Given the description of an element on the screen output the (x, y) to click on. 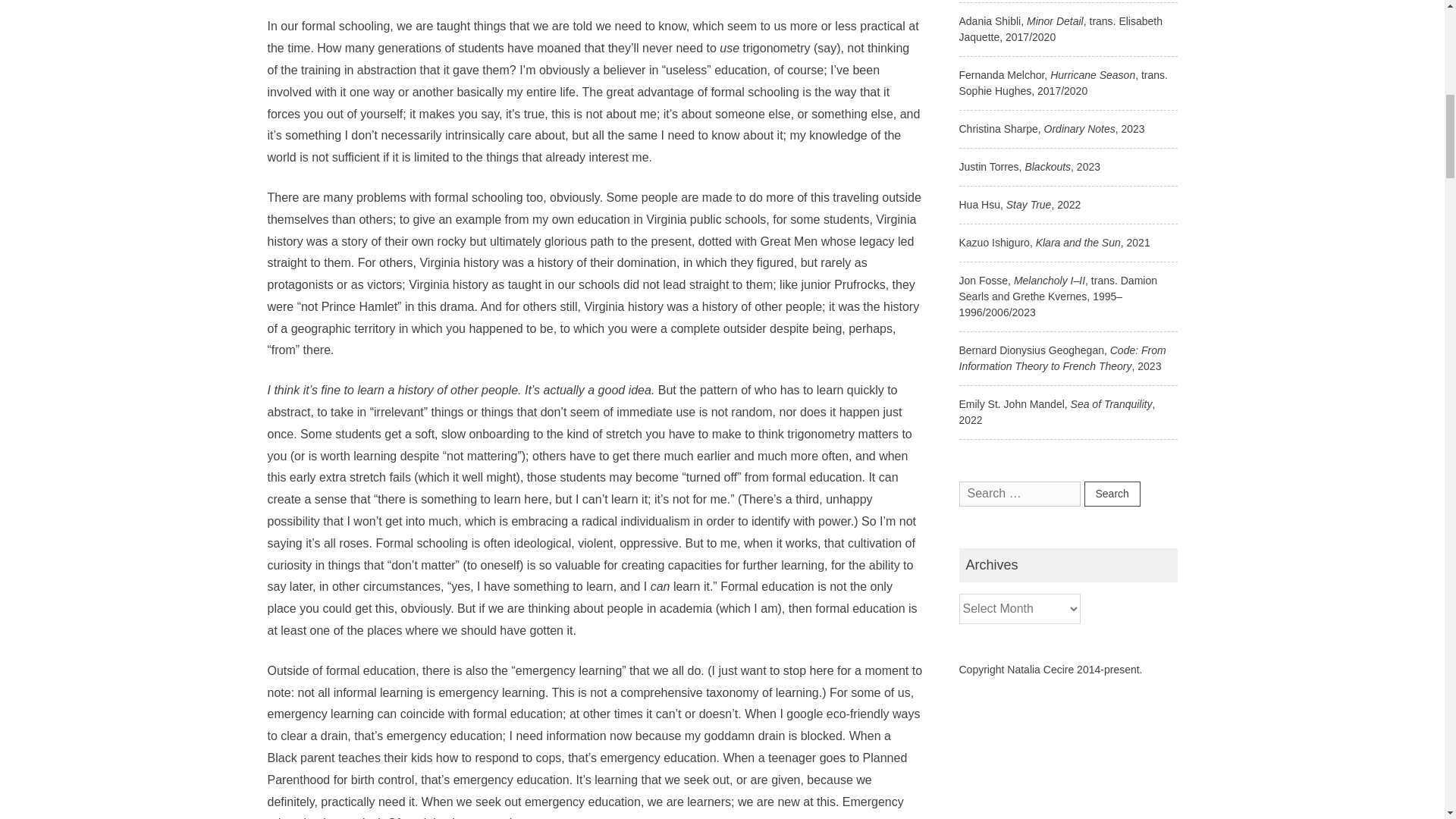
Search (1112, 493)
Search (1112, 493)
Search (1112, 493)
